Given the description of an element on the screen output the (x, y) to click on. 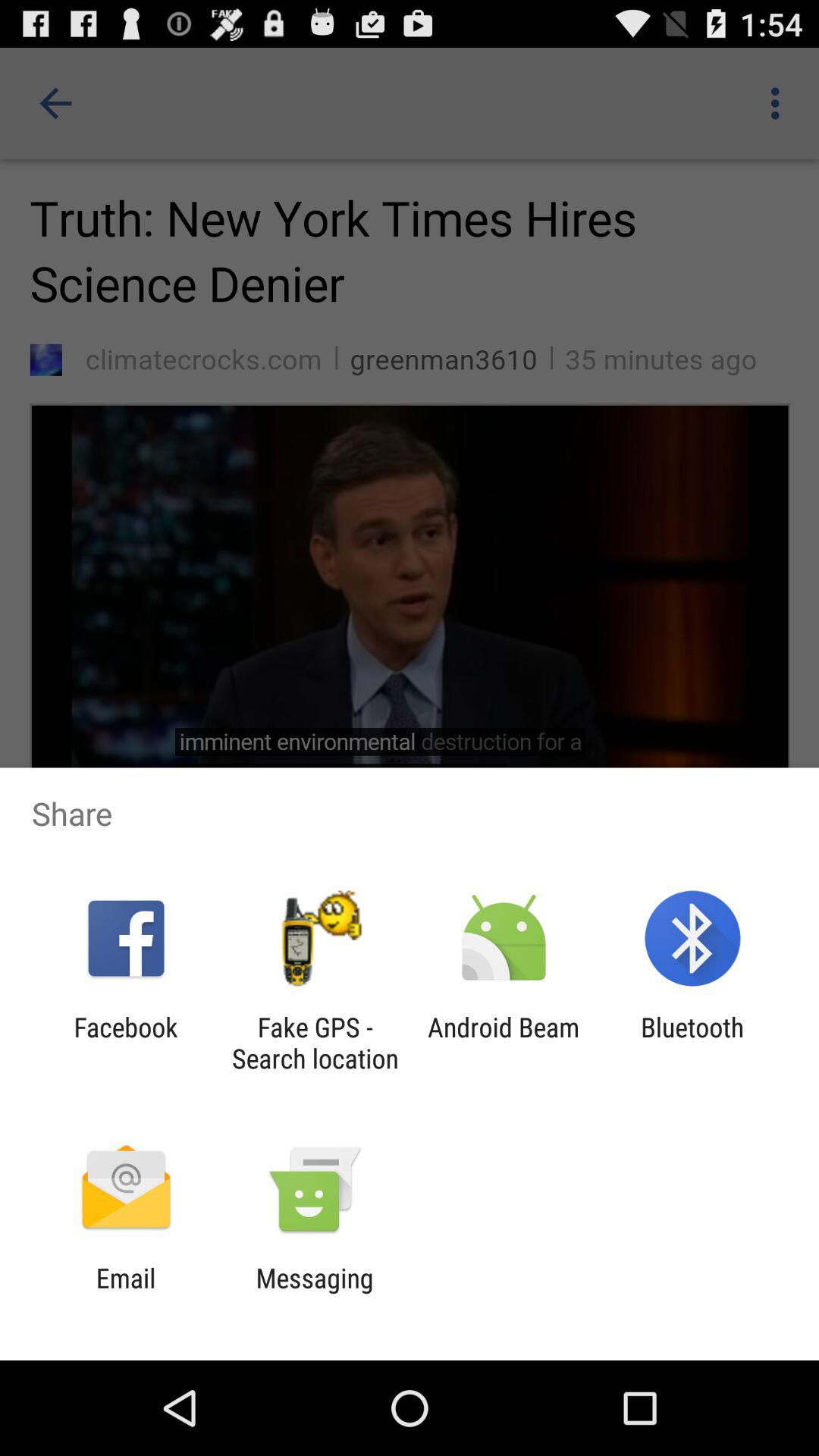
launch app next to the fake gps search (125, 1042)
